Given the description of an element on the screen output the (x, y) to click on. 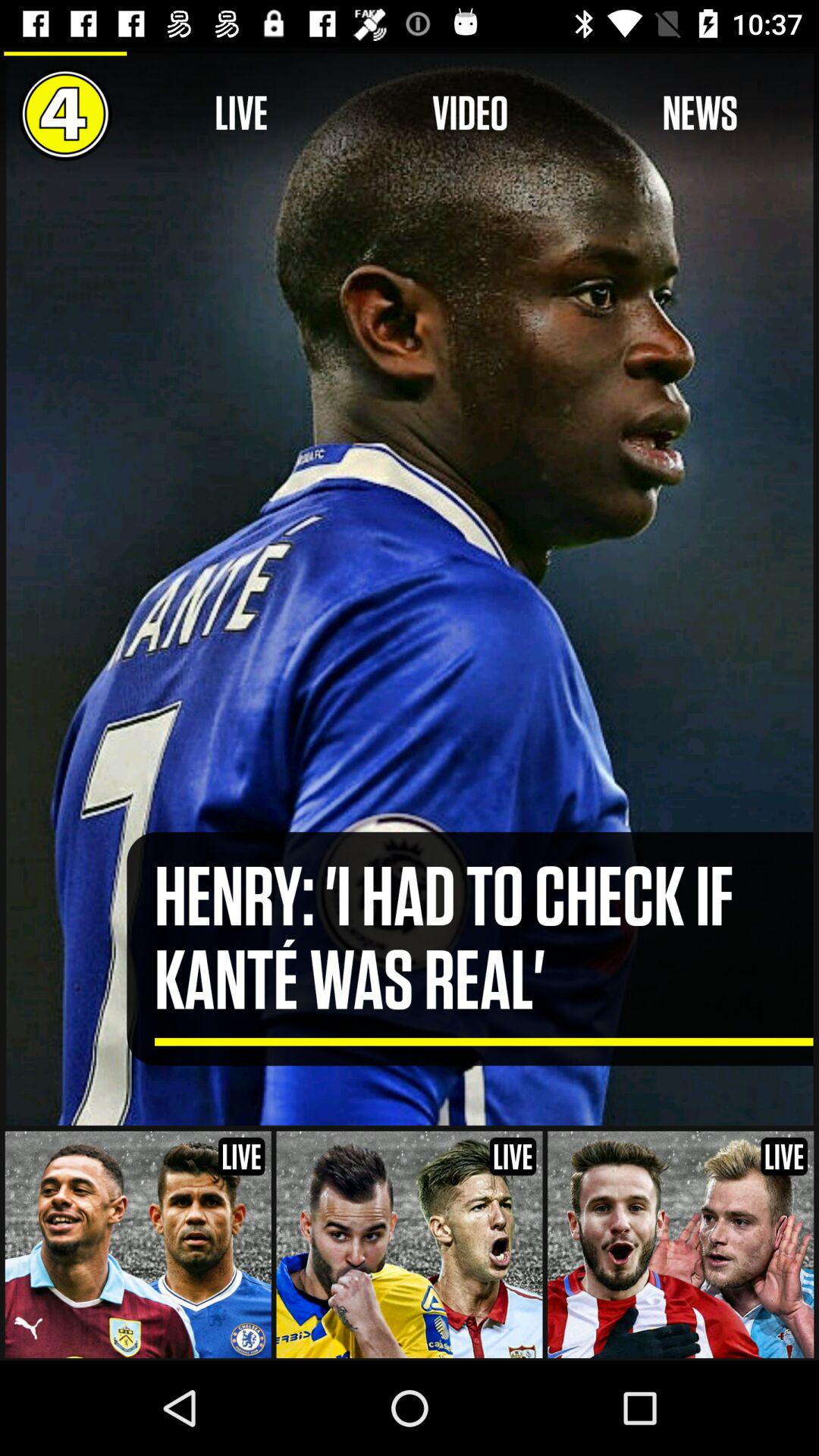
turn on the app next to video (700, 113)
